Given the description of an element on the screen output the (x, y) to click on. 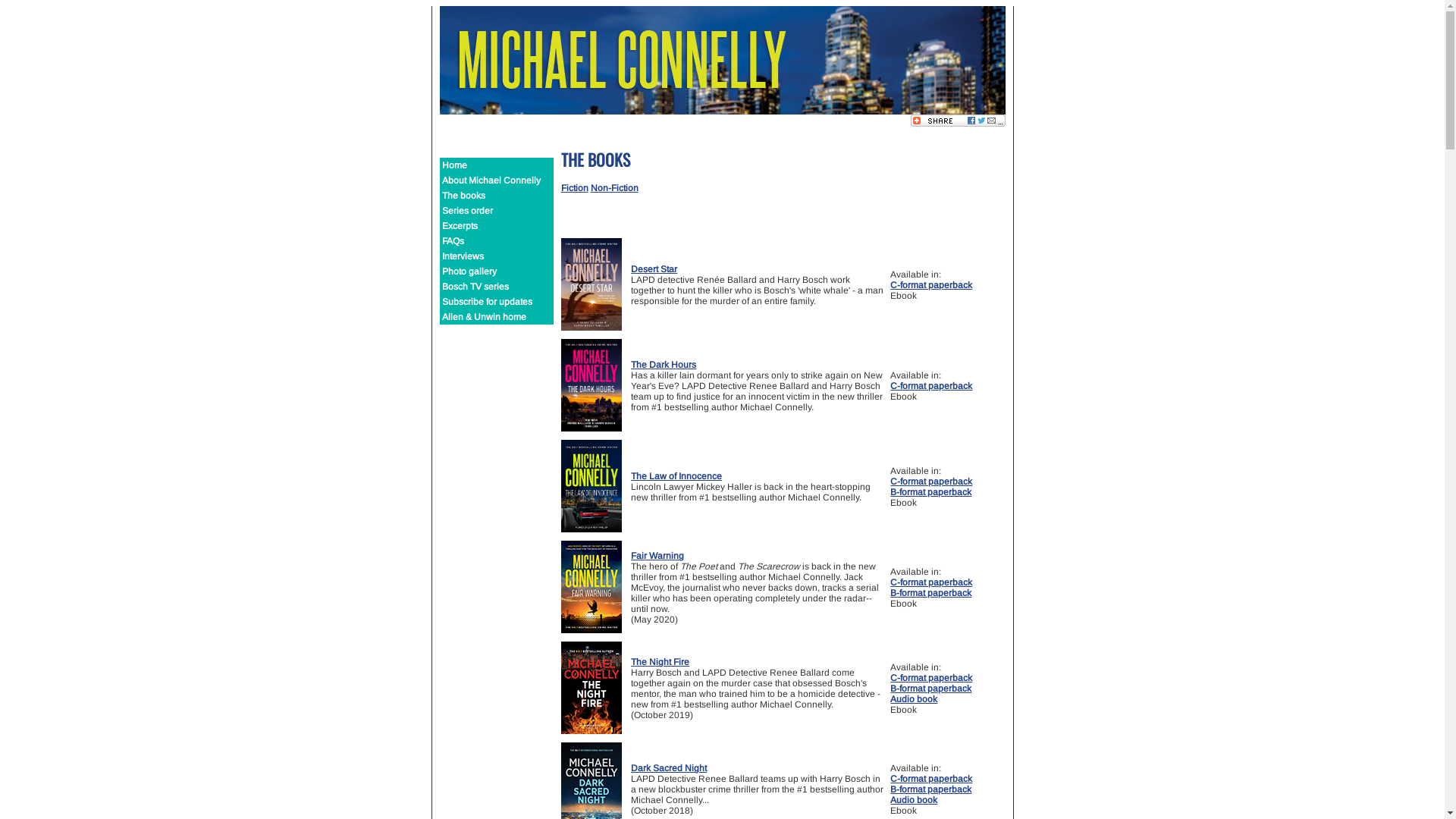
The books Element type: text (496, 195)
Home Element type: text (496, 164)
Non-Fiction Element type: text (613, 187)
Audio book Element type: text (913, 698)
About Michael Connelly Element type: text (496, 180)
Fair Warning Element type: text (657, 555)
The Dark Hours Element type: text (663, 364)
Photo gallery Element type: text (496, 271)
Bosch TV series Element type: text (496, 286)
B-format paperback Element type: text (930, 789)
C-format paperback Element type: text (931, 677)
Fiction Element type: text (574, 187)
B-format paperback Element type: text (930, 491)
Desert Star Element type: text (653, 268)
Interviews Element type: text (496, 255)
C-format paperback Element type: text (931, 778)
C-format paperback Element type: text (931, 481)
The Night Fire Element type: text (659, 661)
C-format paperback Element type: text (931, 284)
Dark Sacred Night Element type: text (668, 767)
C-format paperback Element type: text (931, 385)
The Law of Innocence Element type: text (675, 475)
B-format paperback Element type: text (930, 688)
C-format paperback Element type: text (931, 582)
Allen & Unwin home Element type: text (496, 316)
Audio book Element type: text (913, 799)
Series order Element type: text (496, 210)
FAQs Element type: text (496, 240)
Excerpts Element type: text (496, 225)
Subscribe for updates Element type: text (496, 301)
B-format paperback Element type: text (930, 592)
